Given the description of an element on the screen output the (x, y) to click on. 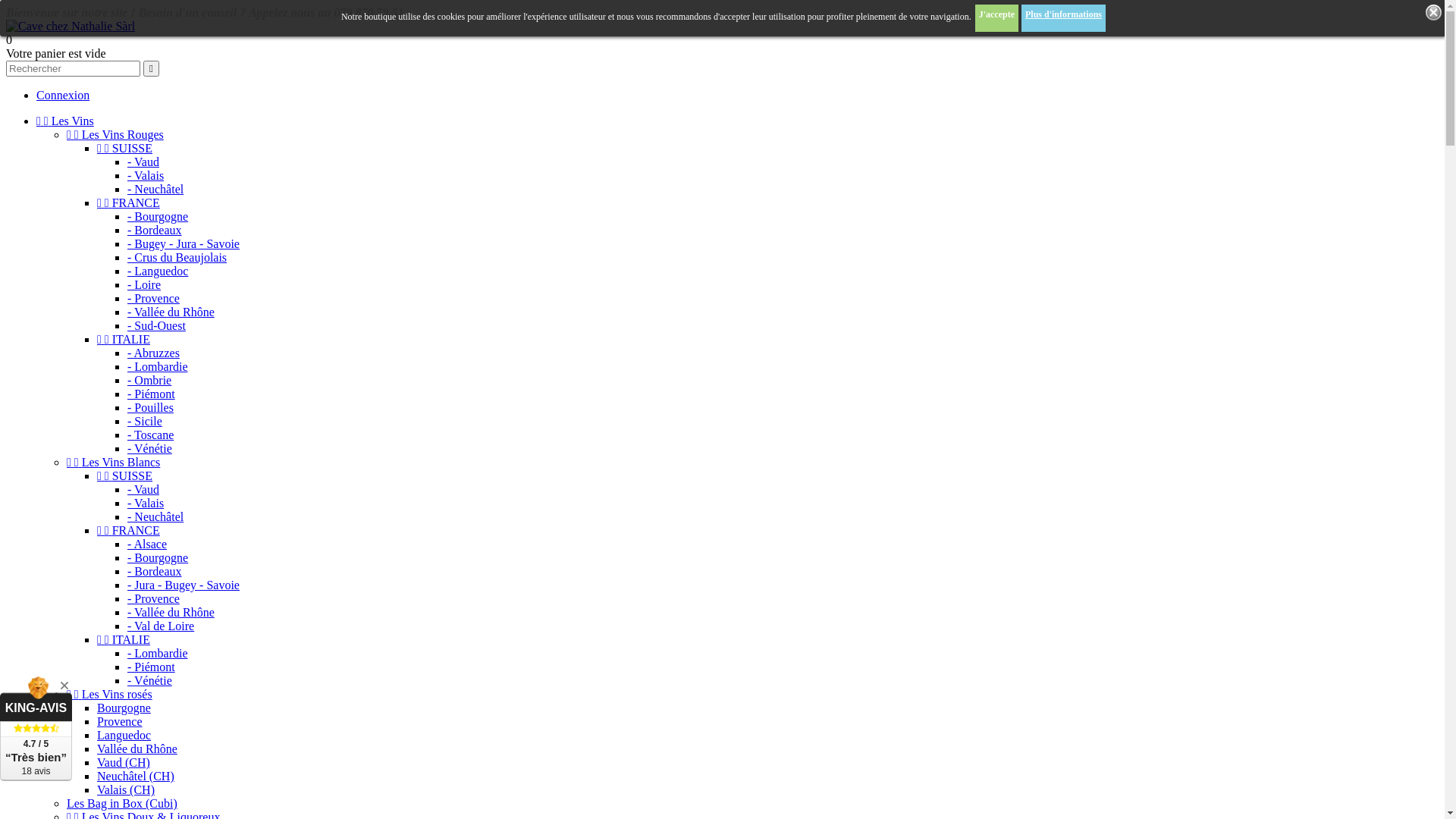
Provence Element type: text (119, 721)
- Bugey - Jura - Savoie Element type: text (183, 243)
Plus d'informations Element type: text (1063, 17)
- Bourgogne Element type: text (157, 216)
J'accepte Element type: text (996, 17)
- Loire Element type: text (143, 284)
- Toscane Element type: text (150, 434)
- Provence Element type: text (153, 297)
- Bordeaux Element type: text (154, 229)
Languedoc Element type: text (123, 734)
Vaud (CH) Element type: text (123, 762)
- Bourgogne Element type: text (157, 557)
- Vaud Element type: text (143, 161)
- Valais Element type: text (145, 175)
- Lombardie Element type: text (157, 366)
Valais (CH) Element type: text (125, 789)
- Valais Element type: text (145, 502)
- Pouilles Element type: text (150, 407)
- Languedoc Element type: text (157, 270)
- Provence Element type: text (153, 598)
Les Bag in Box (Cubi) Element type: text (121, 803)
- Jura - Bugey - Savoie Element type: text (183, 584)
- Lombardie Element type: text (157, 652)
- Abruzzes Element type: text (153, 352)
Bourgogne Element type: text (123, 707)
- Crus du Beaujolais Element type: text (176, 257)
- Sud-Ouest Element type: text (156, 325)
- Sicile Element type: text (144, 420)
Connexion Element type: text (62, 94)
- Bordeaux Element type: text (154, 570)
- Alsace Element type: text (146, 543)
- Val de Loire Element type: text (160, 625)
- Ombrie Element type: text (149, 379)
- Vaud Element type: text (143, 489)
